Given the description of an element on the screen output the (x, y) to click on. 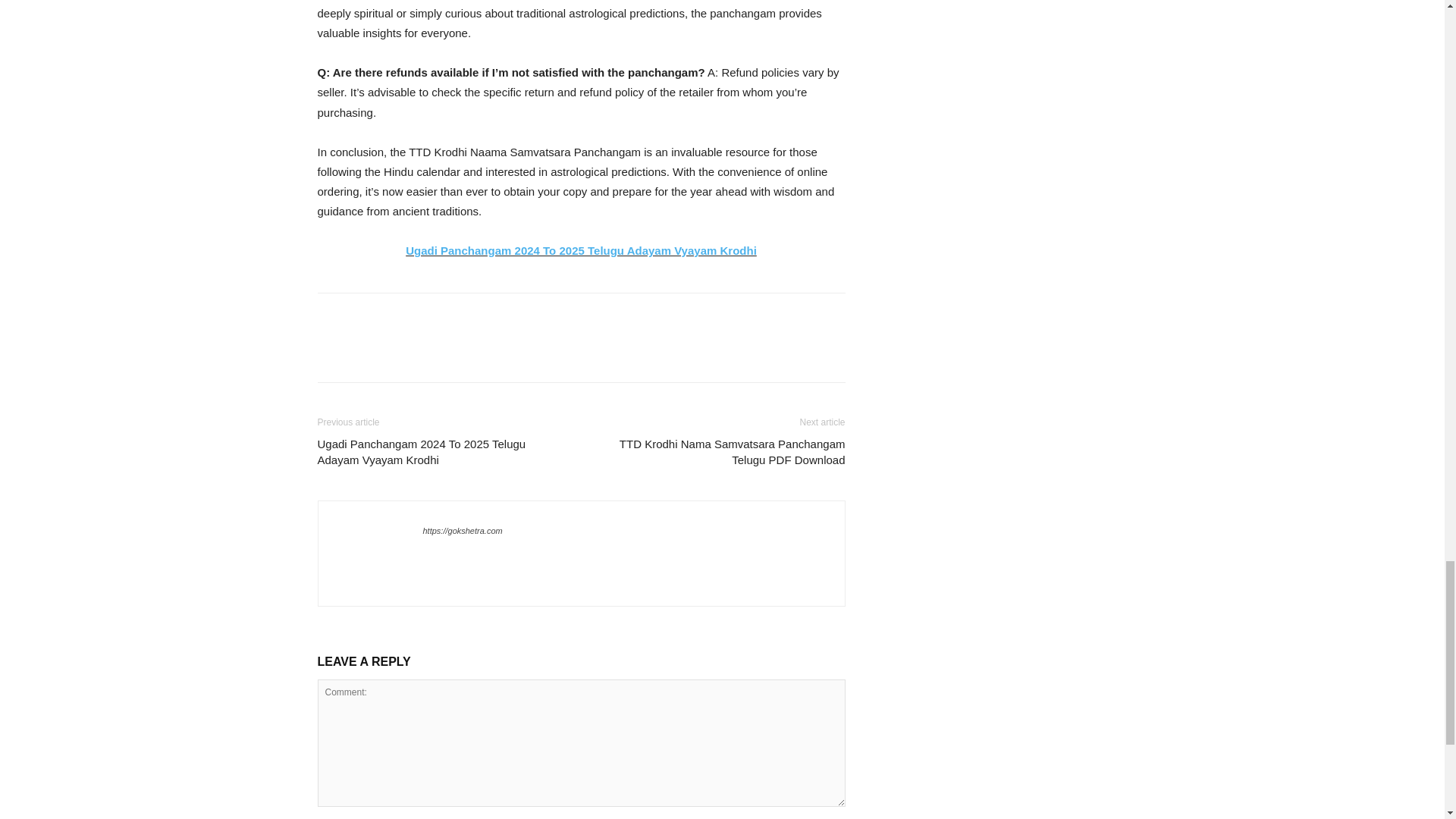
Ugadi Panchangam 2024 To 2025 Telugu Adayam Vyayam Krodhi (581, 250)
